Given the description of an element on the screen output the (x, y) to click on. 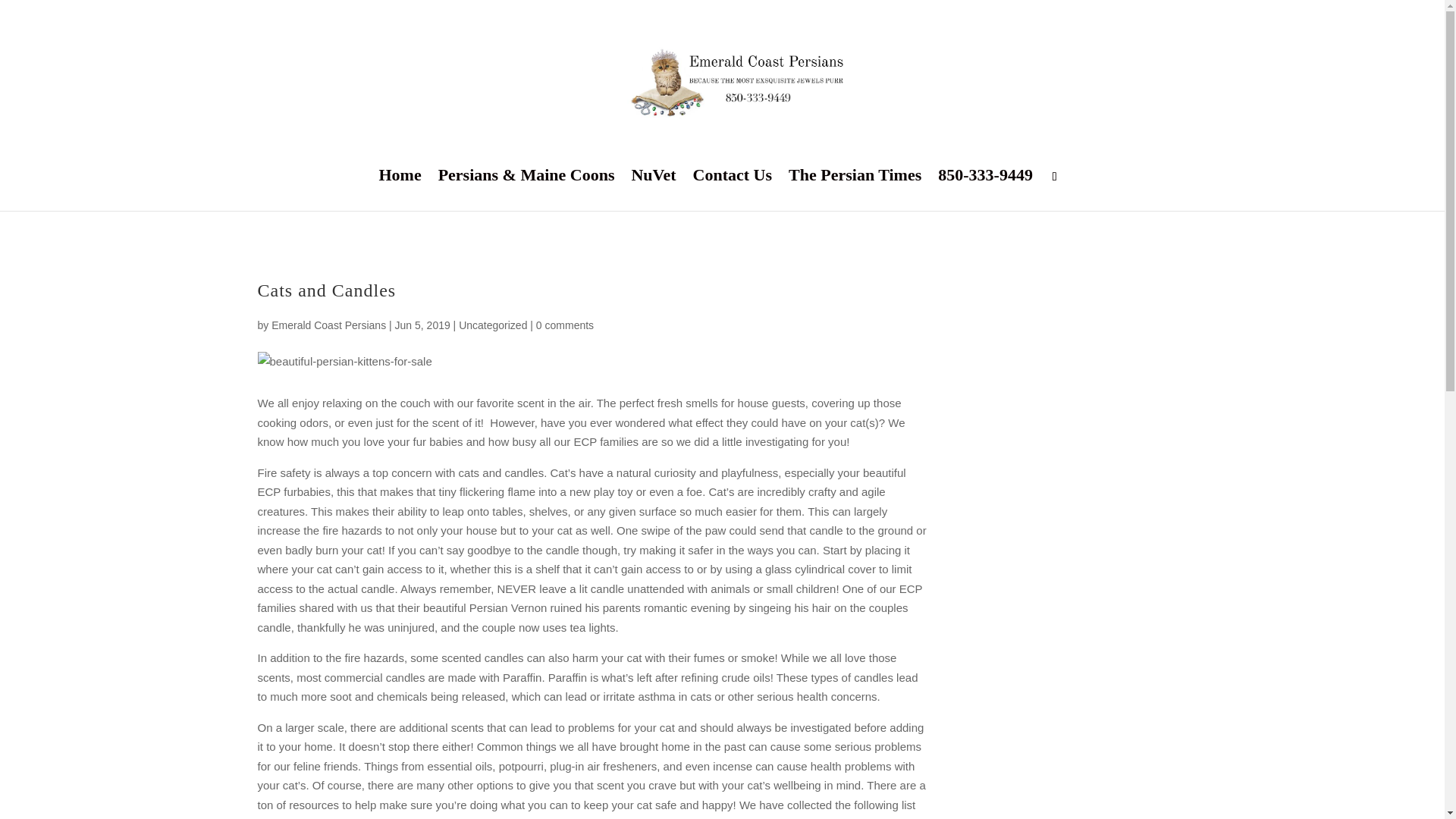
Contact Us (733, 189)
0 comments (564, 325)
NuVet (652, 189)
Uncategorized (492, 325)
The Persian Times (855, 189)
Posts by Emerald Coast Persians (327, 325)
850-333-9449 (984, 189)
Home (399, 189)
Emerald Coast Persians (327, 325)
